Given the description of an element on the screen output the (x, y) to click on. 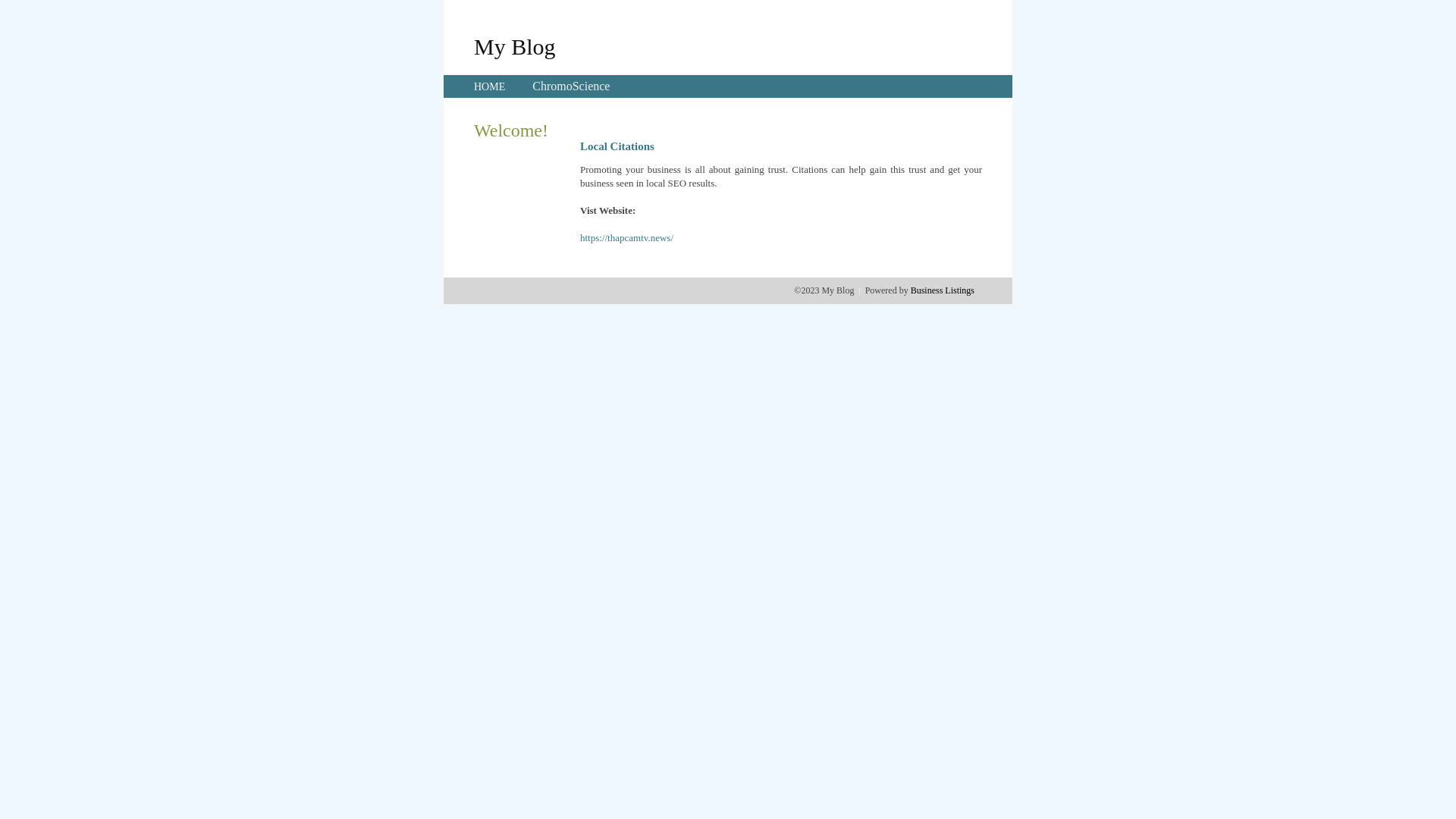
https://thapcamtv.news/ Element type: text (626, 237)
Business Listings Element type: text (942, 290)
ChromoScience Element type: text (570, 85)
HOME Element type: text (489, 86)
My Blog Element type: text (514, 46)
